Given the description of an element on the screen output the (x, y) to click on. 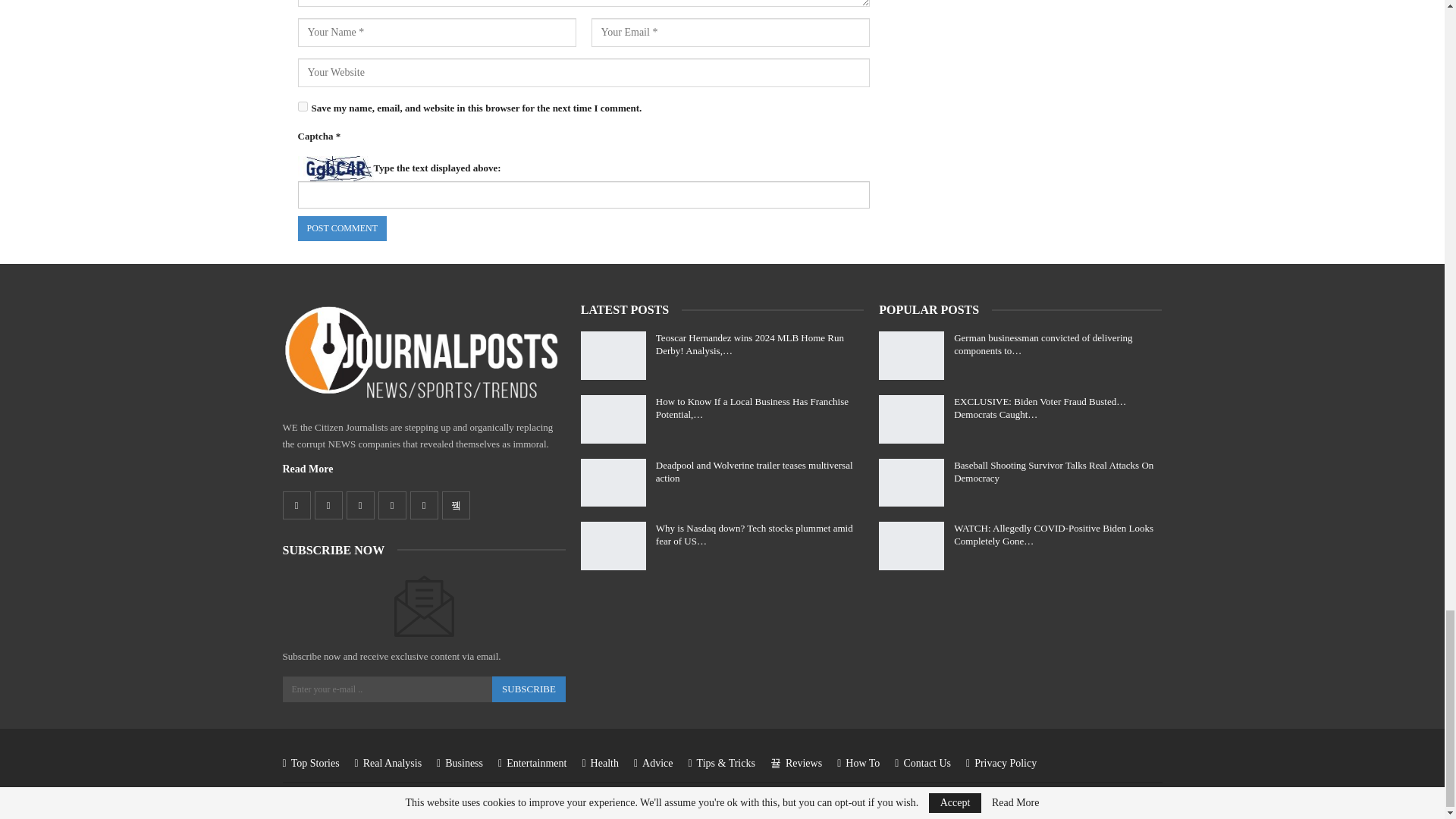
Post Comment (341, 228)
yes (302, 106)
